Given the description of an element on the screen output the (x, y) to click on. 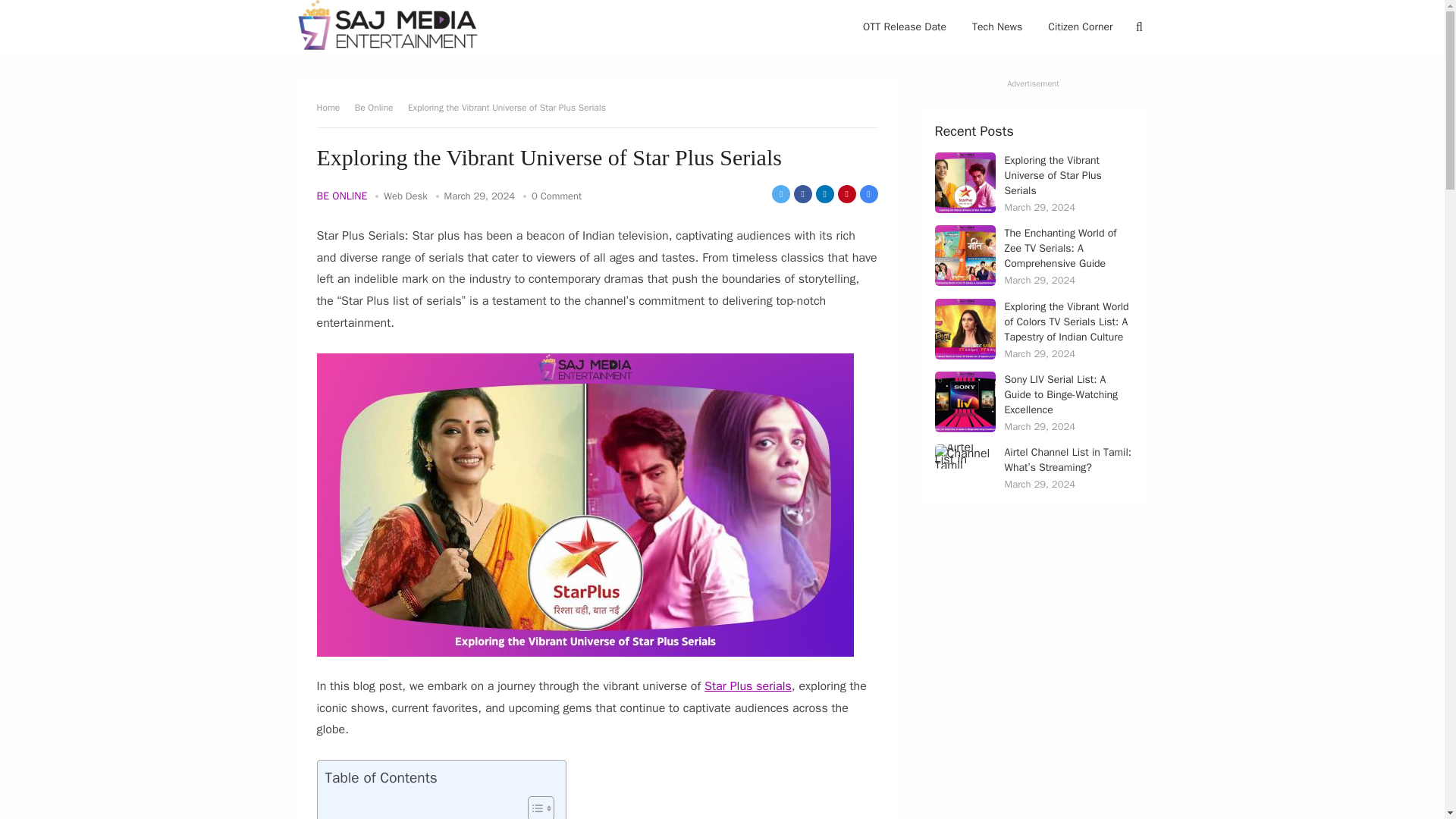
Home (333, 107)
0 Comment (555, 195)
Star Plus serials (748, 685)
OTT Release Date (904, 27)
Posts by Web Desk (405, 195)
Be Online (379, 107)
BE ONLINE (342, 195)
Web Desk (405, 195)
Citizen Corner (1080, 27)
Tech News (996, 27)
